Given the description of an element on the screen output the (x, y) to click on. 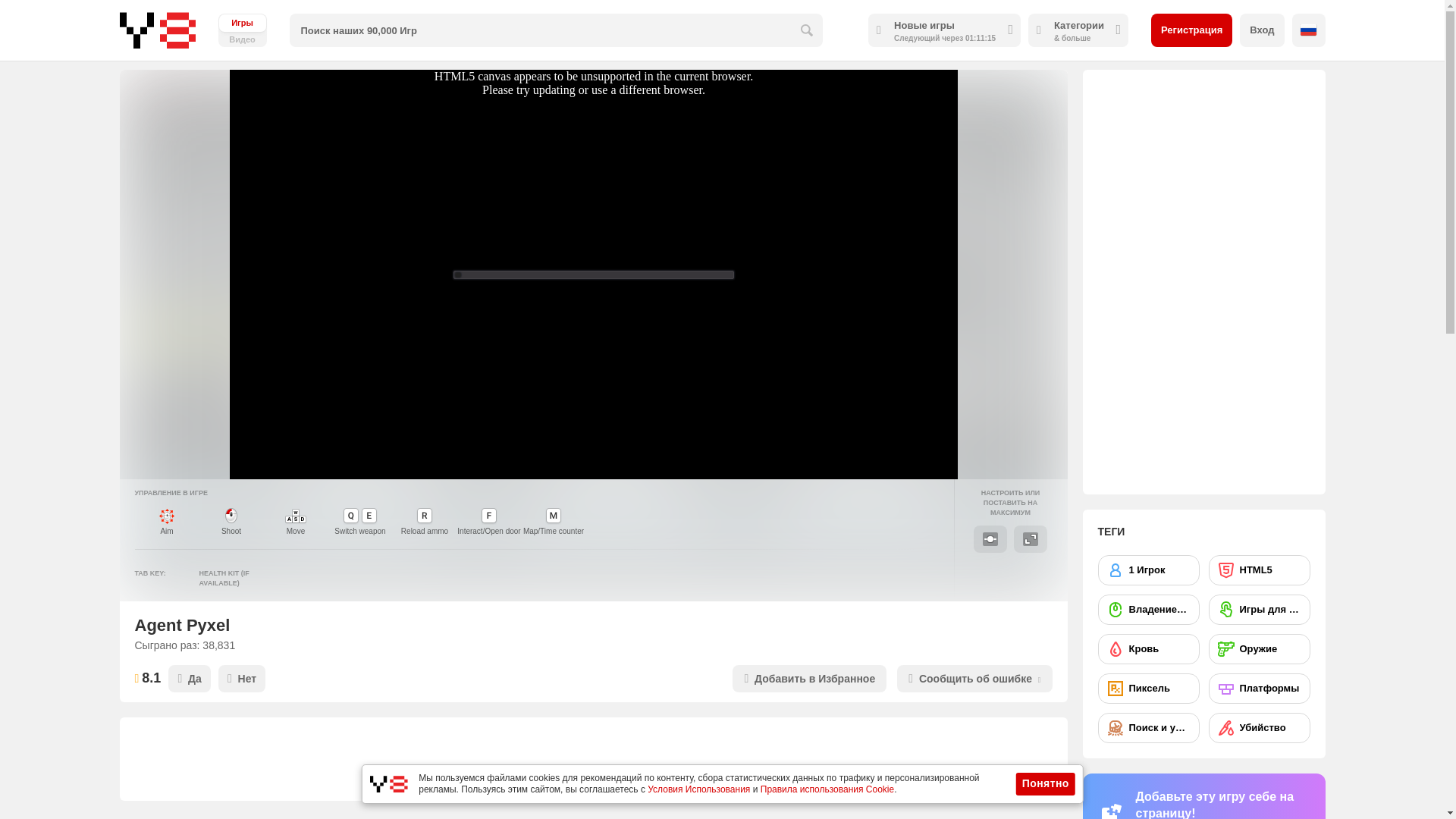
HTML5 (1259, 570)
